Given the description of an element on the screen output the (x, y) to click on. 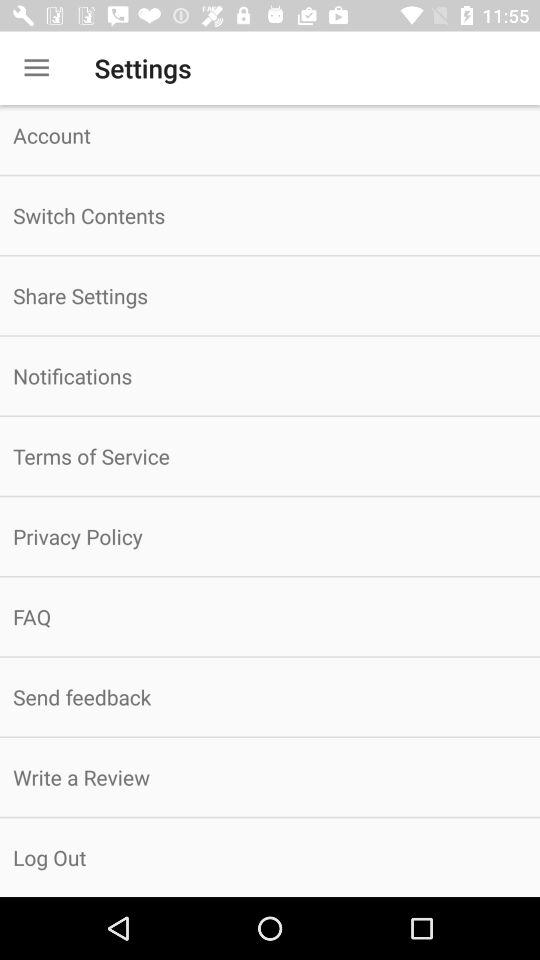
select icon above account (36, 68)
